Given the description of an element on the screen output the (x, y) to click on. 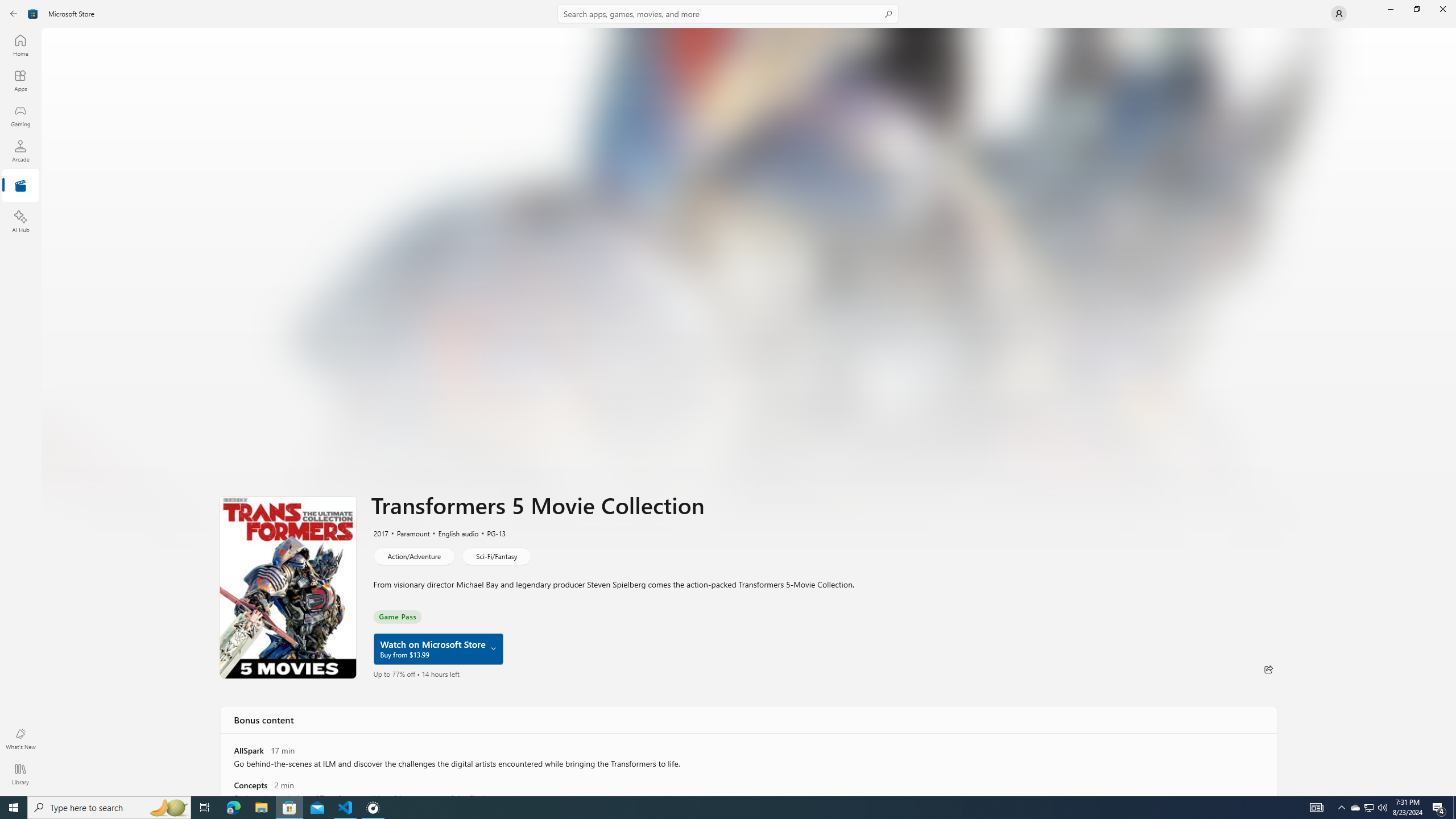
AI Hub (20, 221)
Home (20, 45)
Apps (20, 80)
Watch on Microsoft Store Buy from $13.99 (437, 649)
What's New (20, 738)
Gaming (20, 115)
Back (13, 13)
Sci-Fi/Fantasy (496, 556)
User profile (1338, 13)
Paramount (408, 533)
Action/Adventure (413, 556)
Search (727, 13)
Entertainment (20, 185)
2017 (379, 533)
Arcade (20, 150)
